Given the description of an element on the screen output the (x, y) to click on. 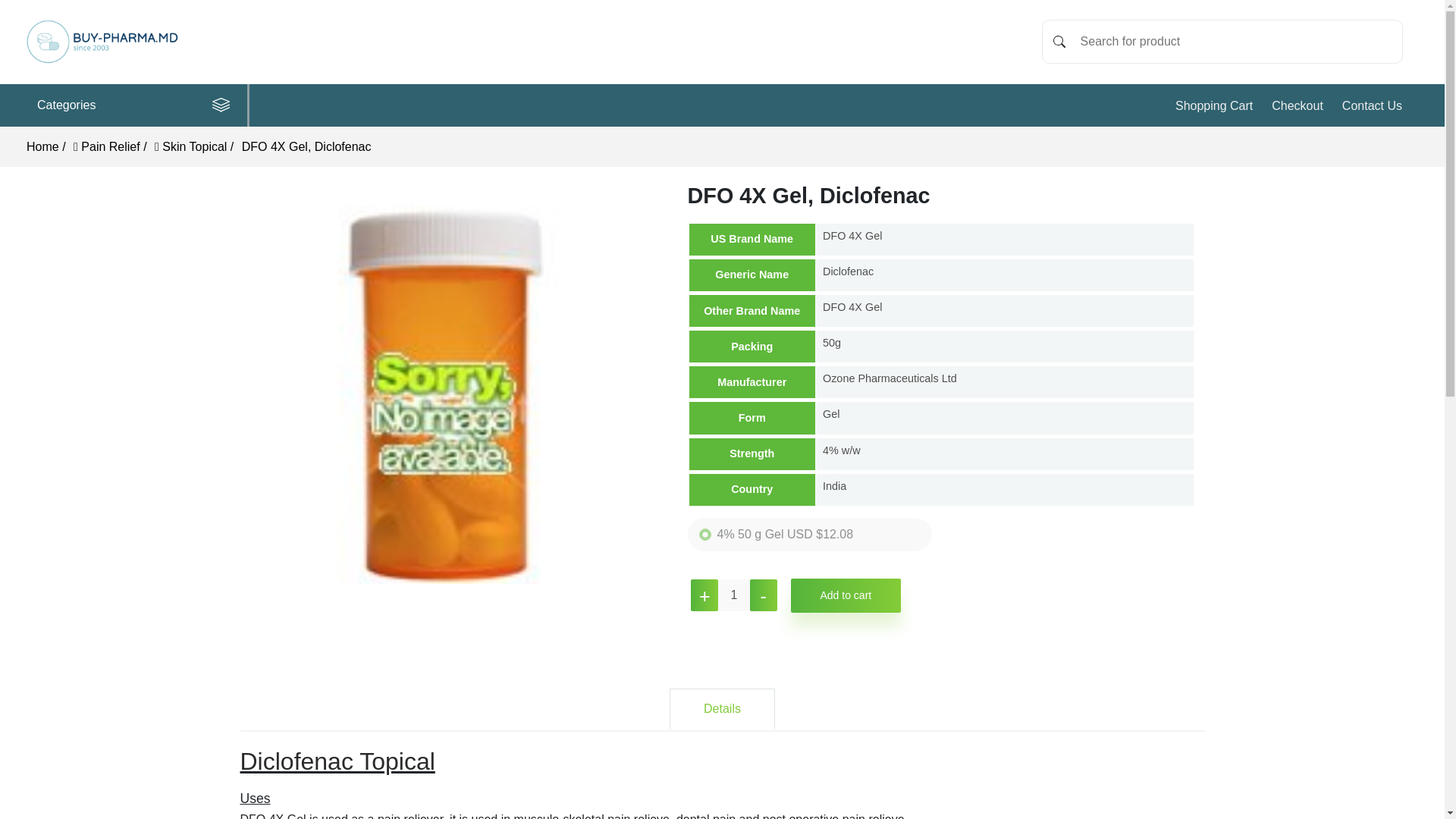
Categories (138, 105)
1 (733, 594)
17190 (704, 534)
